Given the description of an element on the screen output the (x, y) to click on. 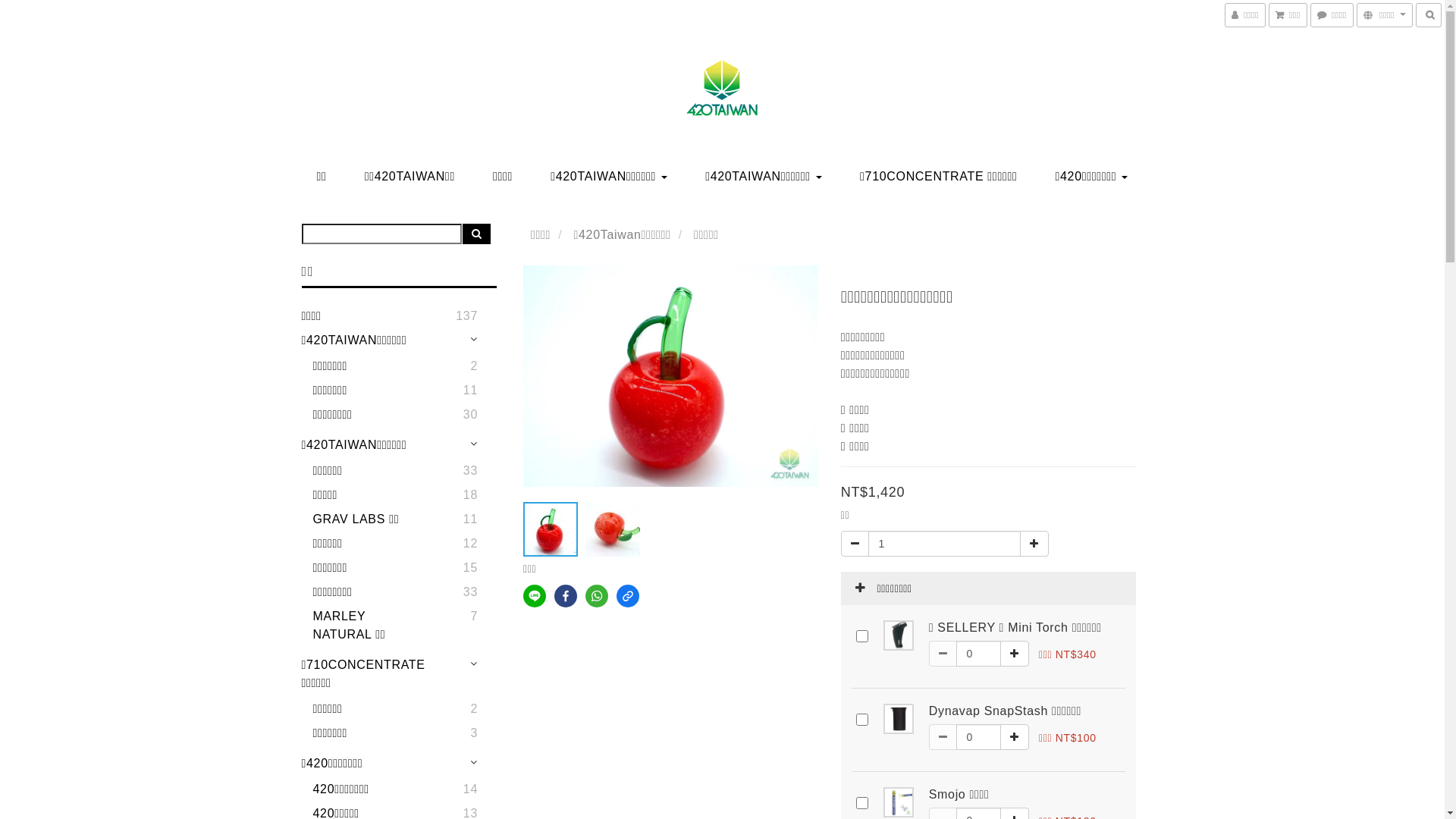
copy link Element type: hover (627, 595)
facebook Element type: hover (565, 595)
whatsapp Element type: hover (596, 595)
line Element type: hover (534, 595)
